Given the description of an element on the screen output the (x, y) to click on. 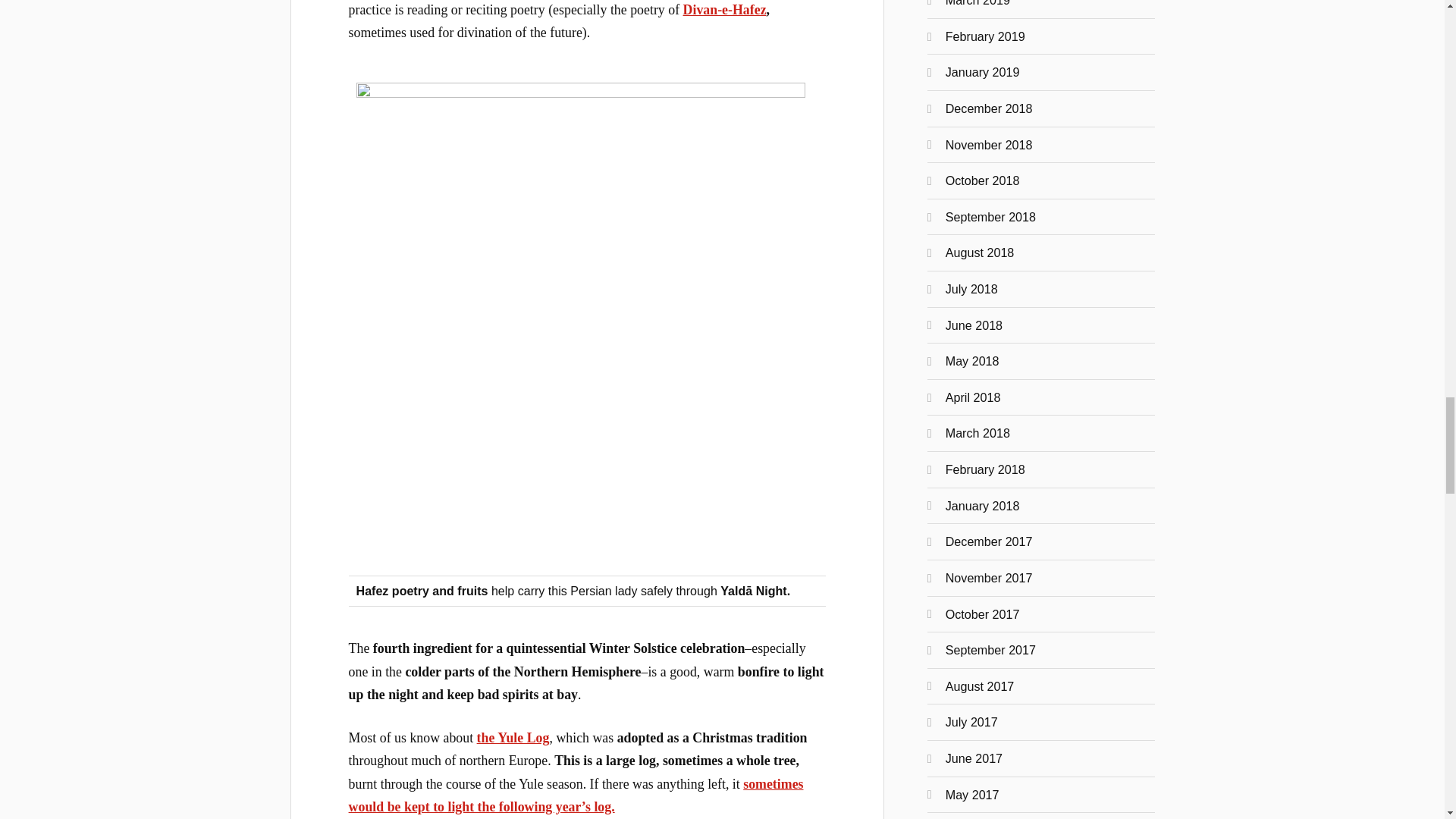
Divan-e-Hafez (724, 9)
the Yule Log (513, 737)
